Given the description of an element on the screen output the (x, y) to click on. 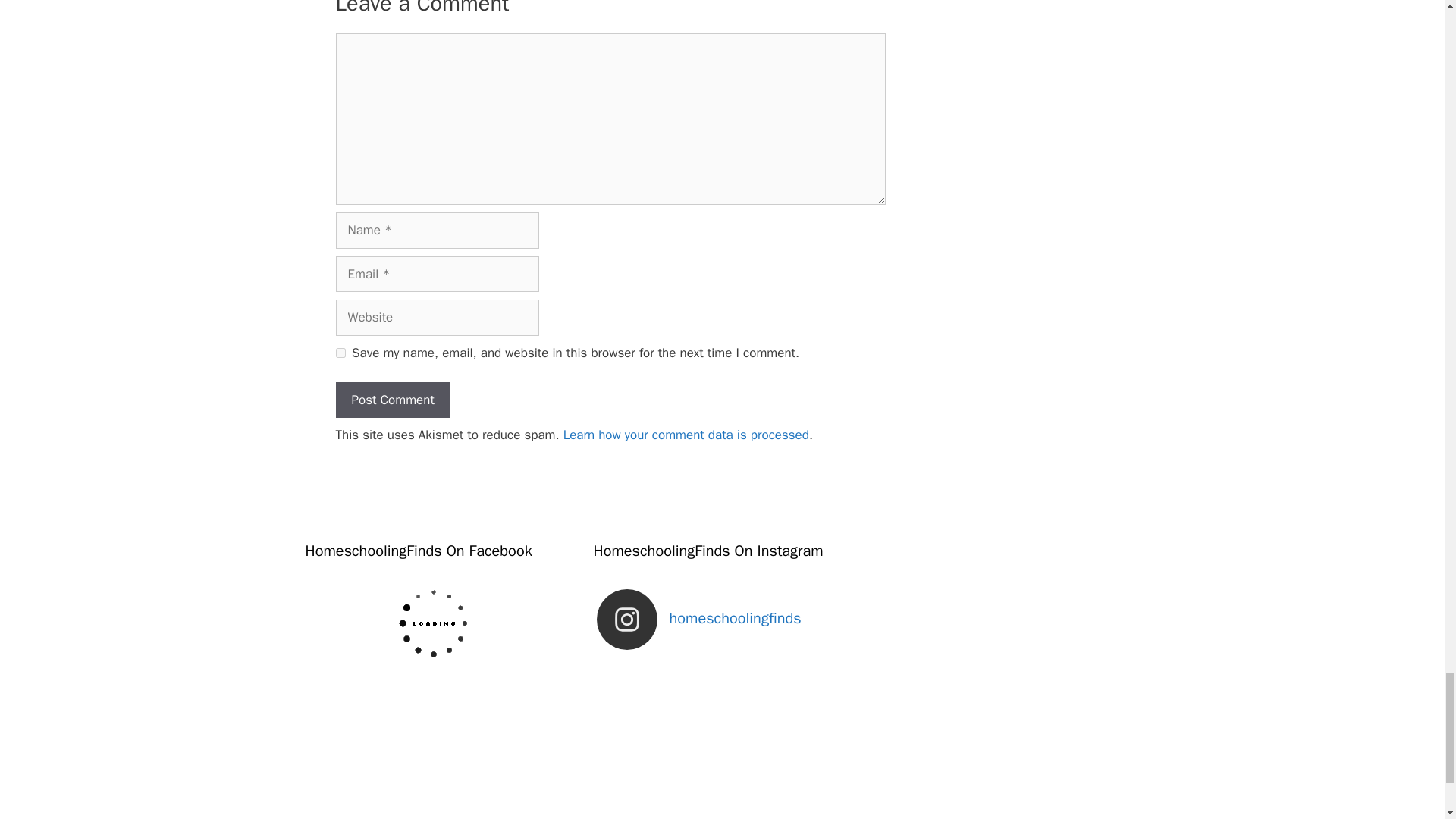
Learn how your comment data is processed (686, 434)
yes (339, 352)
Post Comment (391, 400)
Post Comment (391, 400)
